Given the description of an element on the screen output the (x, y) to click on. 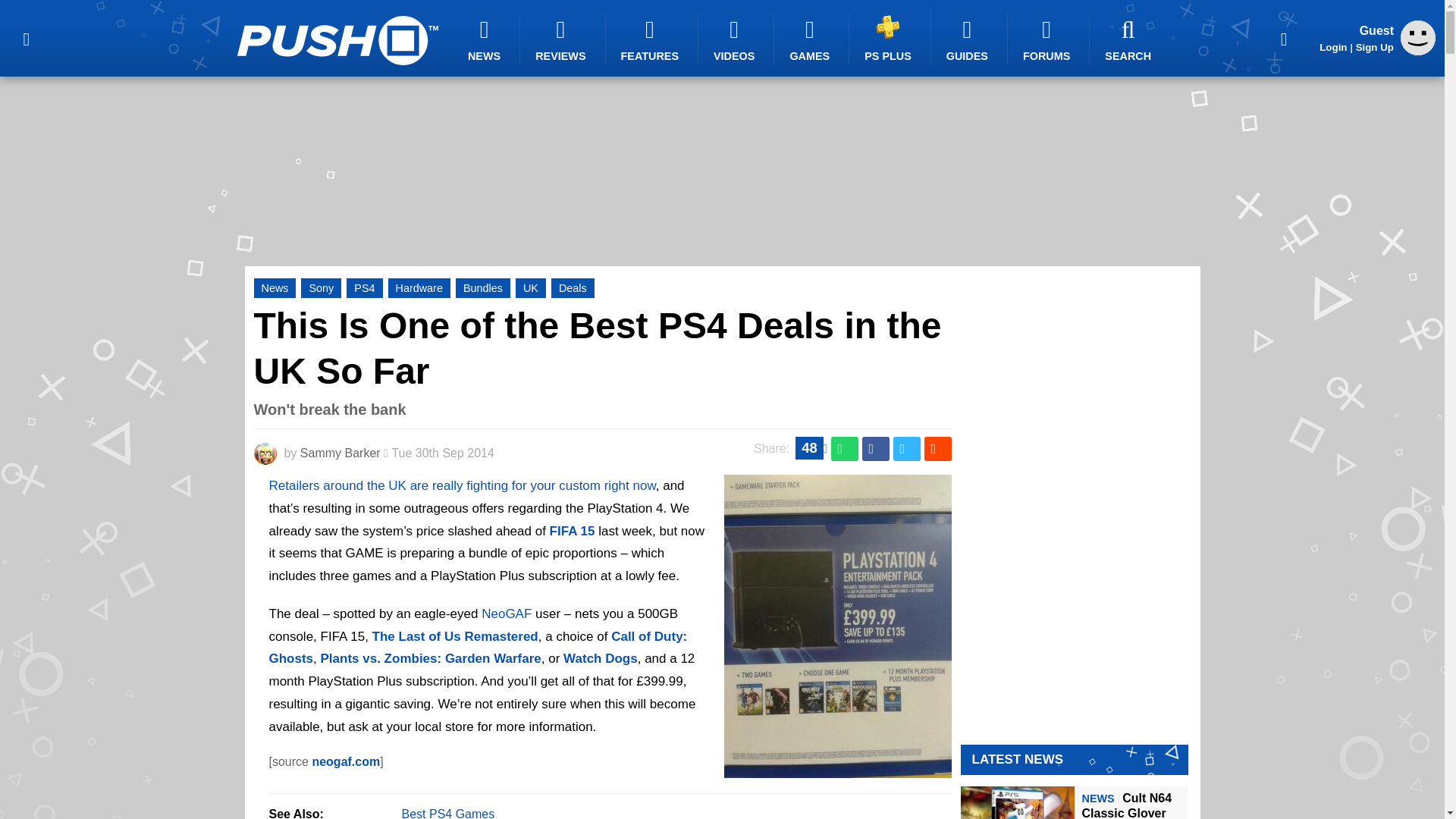
GUIDES (969, 39)
Sony (320, 288)
Share This Page (1283, 37)
Share this on WhatsApp (845, 448)
Share this on Reddit (936, 448)
SEARCH (1129, 39)
GAMES (811, 39)
News (274, 288)
FEATURES (651, 39)
Guest (1417, 37)
